Given the description of an element on the screen output the (x, y) to click on. 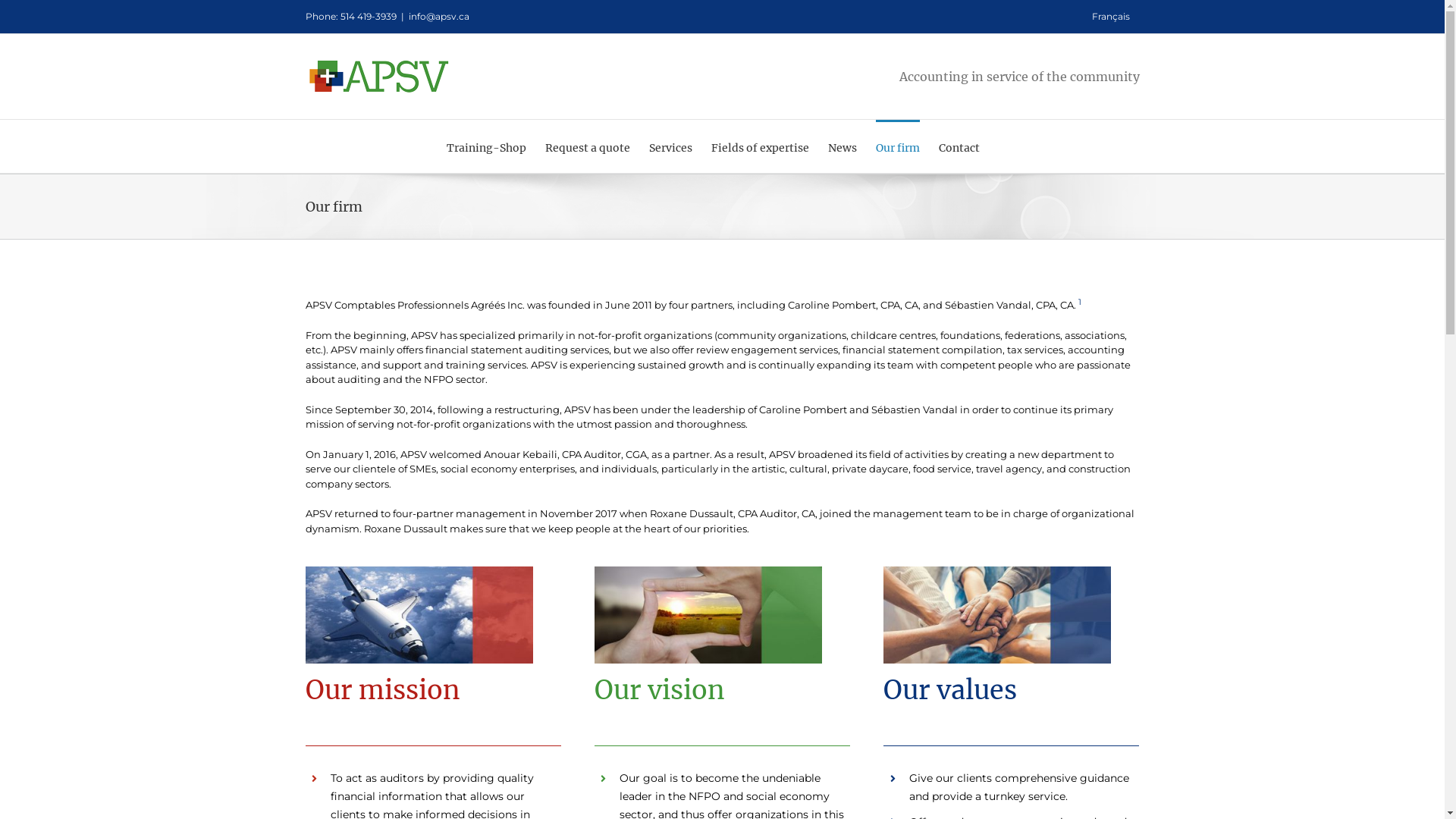
Mission Element type: hover (418, 614)
Training-Shop Element type: text (485, 145)
News Element type: text (842, 145)
1 Element type: text (1079, 304)
Valeurs Element type: hover (996, 614)
Services Element type: text (670, 145)
Fields of expertise Element type: text (760, 145)
Our firm Element type: text (897, 145)
info@apsv.ca Element type: text (437, 15)
Request a quote Element type: text (586, 145)
Contact Element type: text (958, 145)
Vision Element type: hover (708, 614)
